Given the description of an element on the screen output the (x, y) to click on. 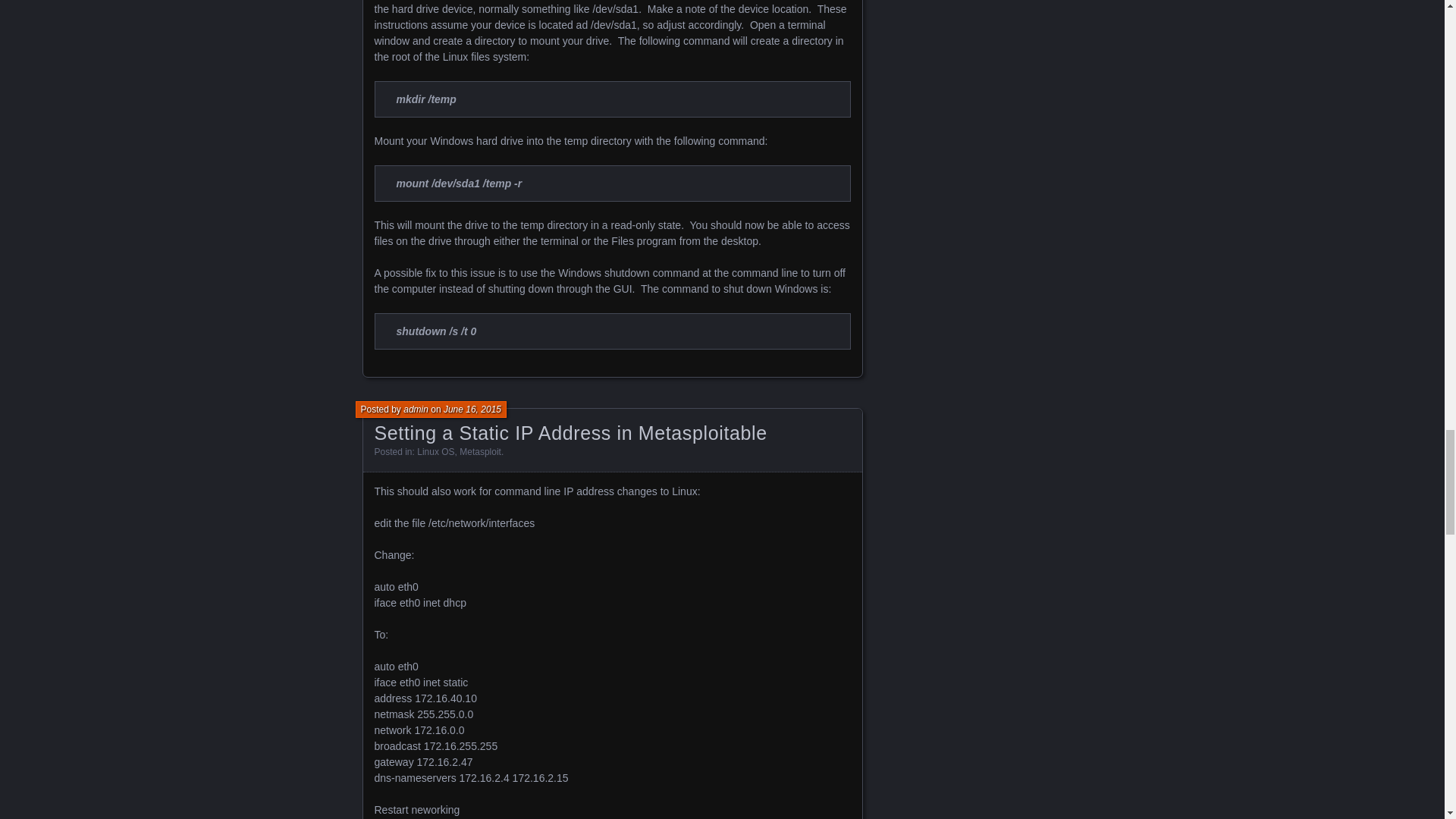
View all posts by admin (415, 409)
admin (415, 409)
June 16, 2015 (472, 409)
Setting a Static IP Address in Metasploitable (570, 432)
Metasploit (480, 451)
Linux OS (435, 451)
